Given the description of an element on the screen output the (x, y) to click on. 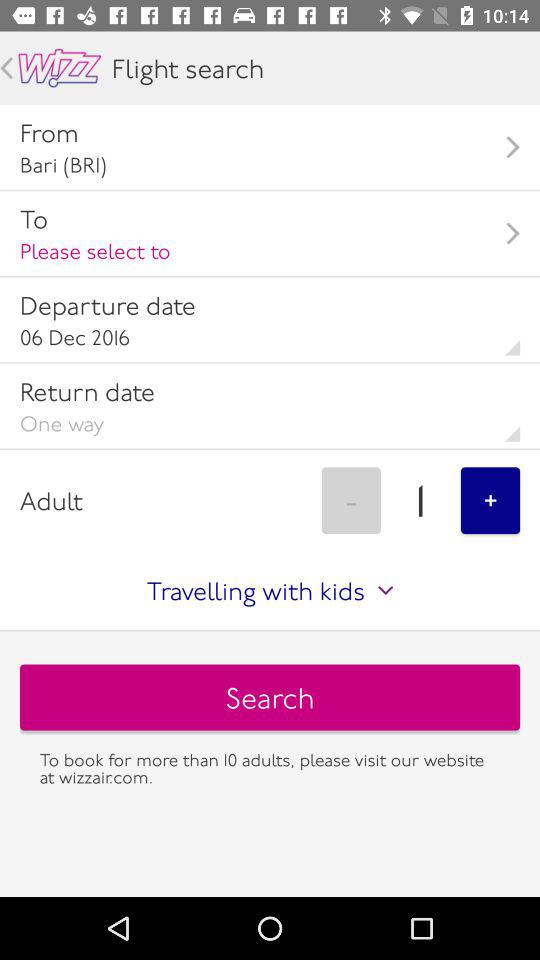
got to previous screen (6, 67)
